Given the description of an element on the screen output the (x, y) to click on. 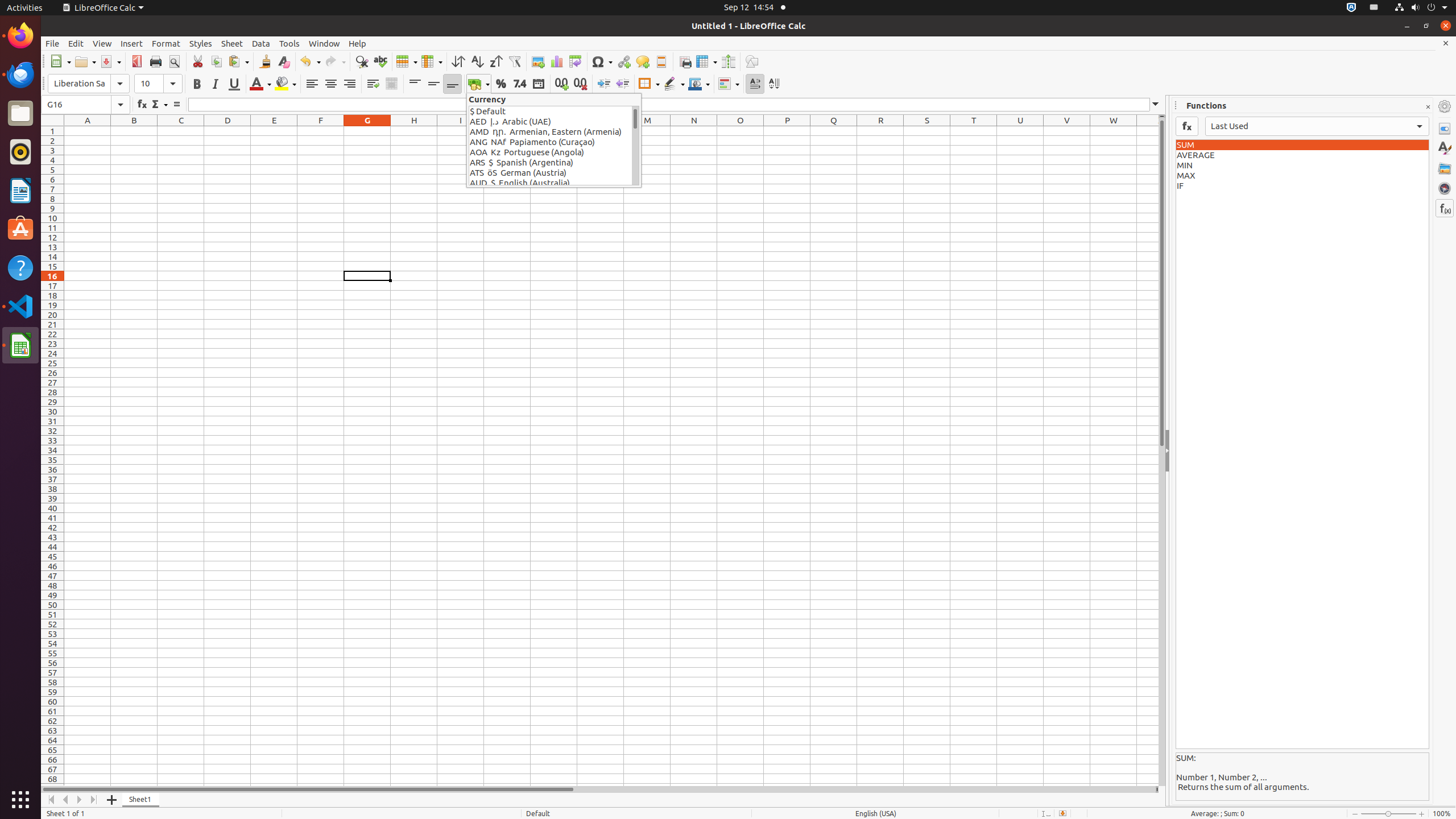
Font Name Element type: combo-box (88, 83)
Horizontal scroll bar Element type: scroll-bar (597, 789)
AVERAGE Element type: list-item (1302, 155)
Bold Element type: toggle-button (196, 83)
Q1 Element type: table-cell (833, 130)
